Given the description of an element on the screen output the (x, y) to click on. 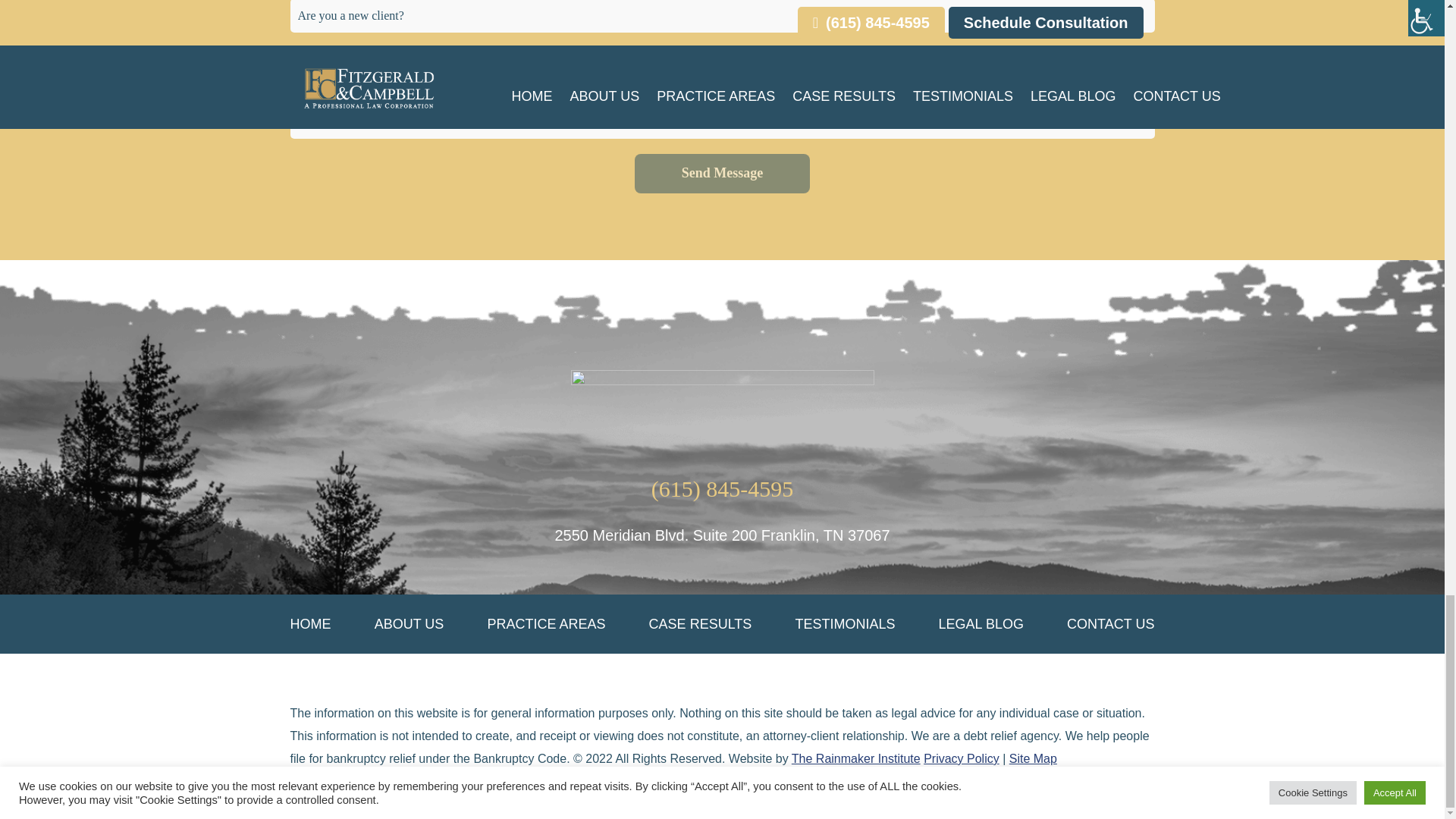
Homepage (721, 406)
Send Message (722, 173)
HOME (309, 623)
ABOUT US (409, 623)
